Given the description of an element on the screen output the (x, y) to click on. 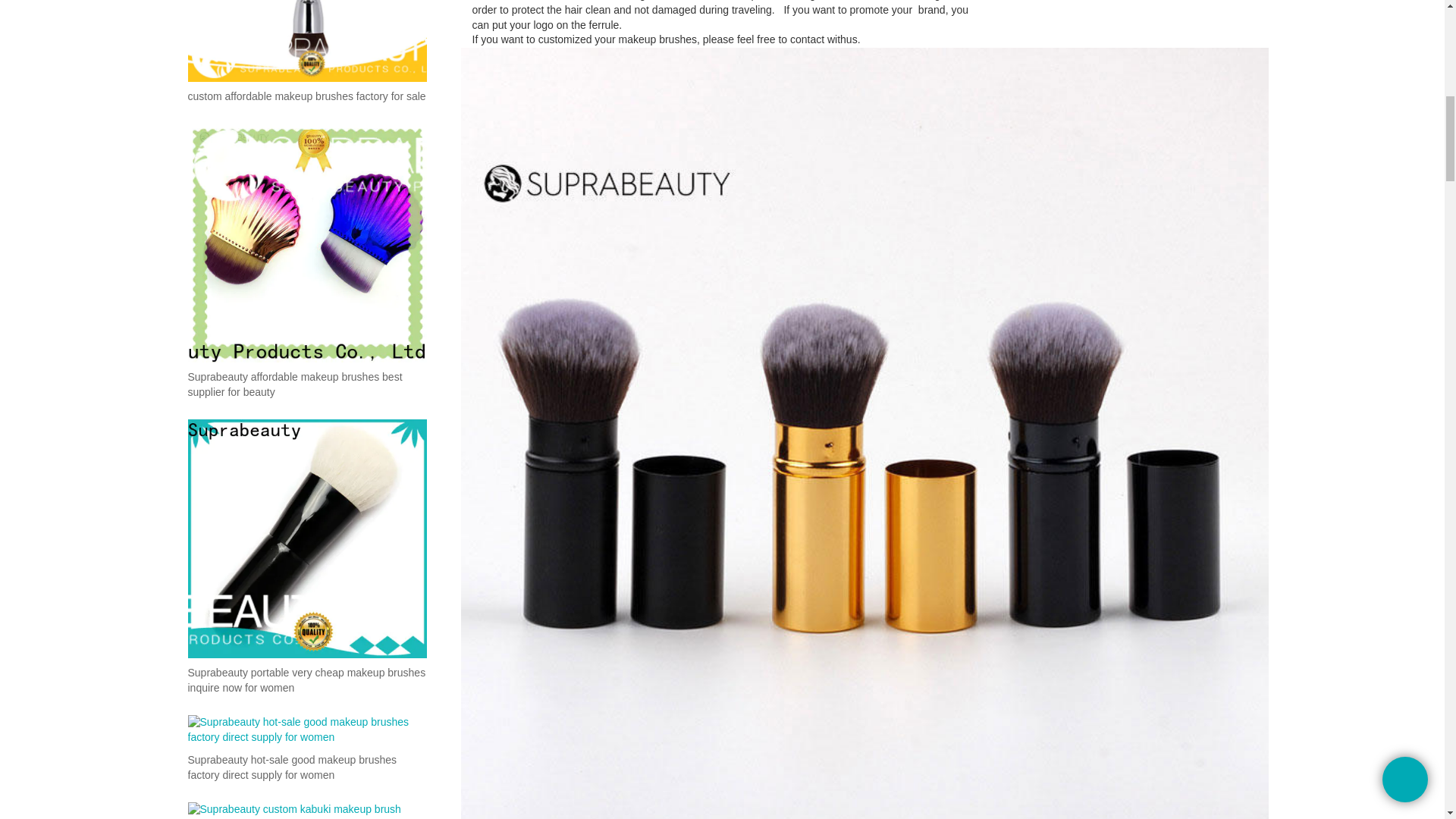
custom affordable makeup brushes factory for sale (306, 96)
